Given the description of an element on the screen output the (x, y) to click on. 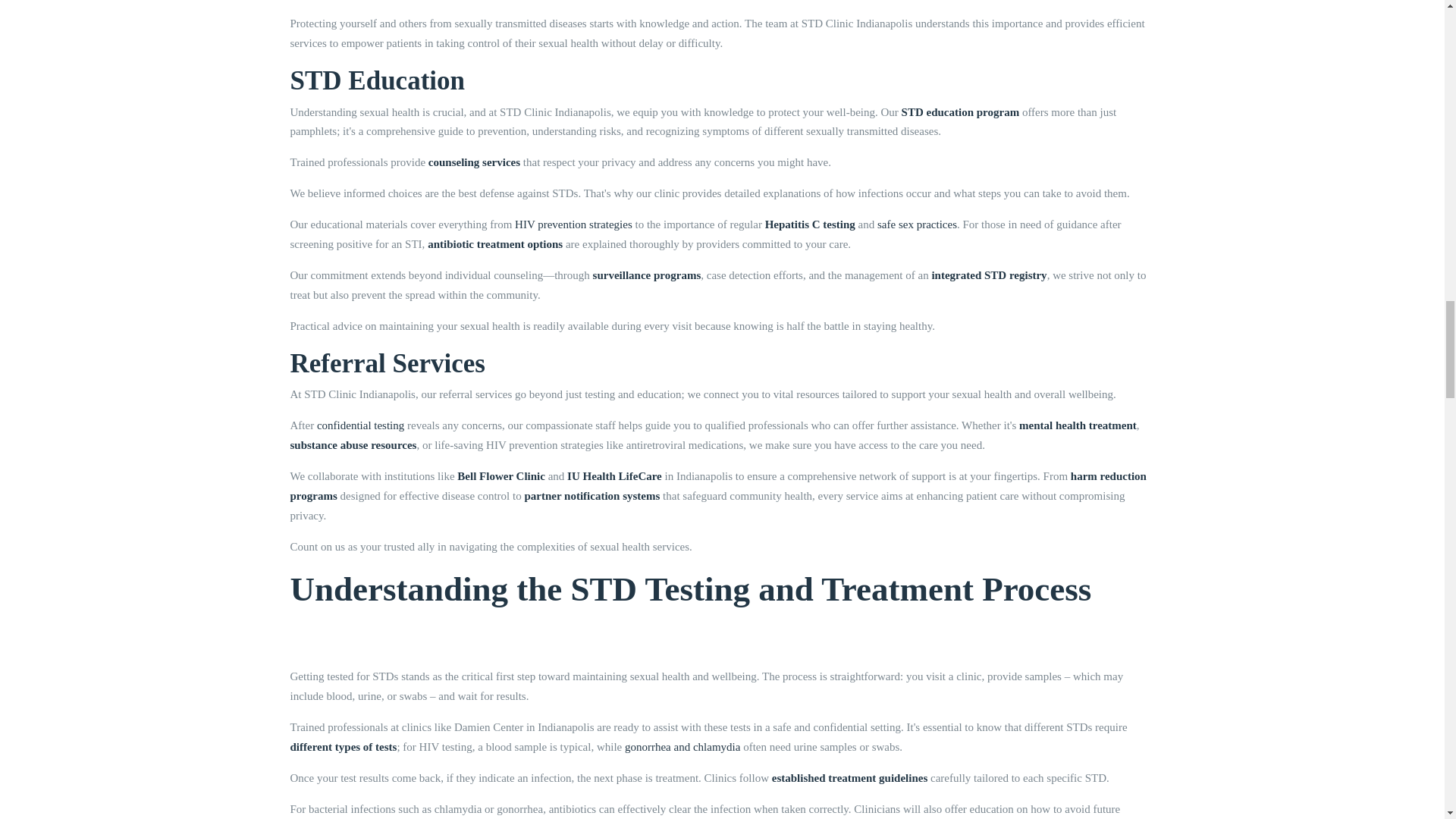
HIV prevention strategies (573, 224)
safe sex practices (916, 224)
confidential testing (360, 425)
gonorrhea and chlamydia (681, 746)
